Given the description of an element on the screen output the (x, y) to click on. 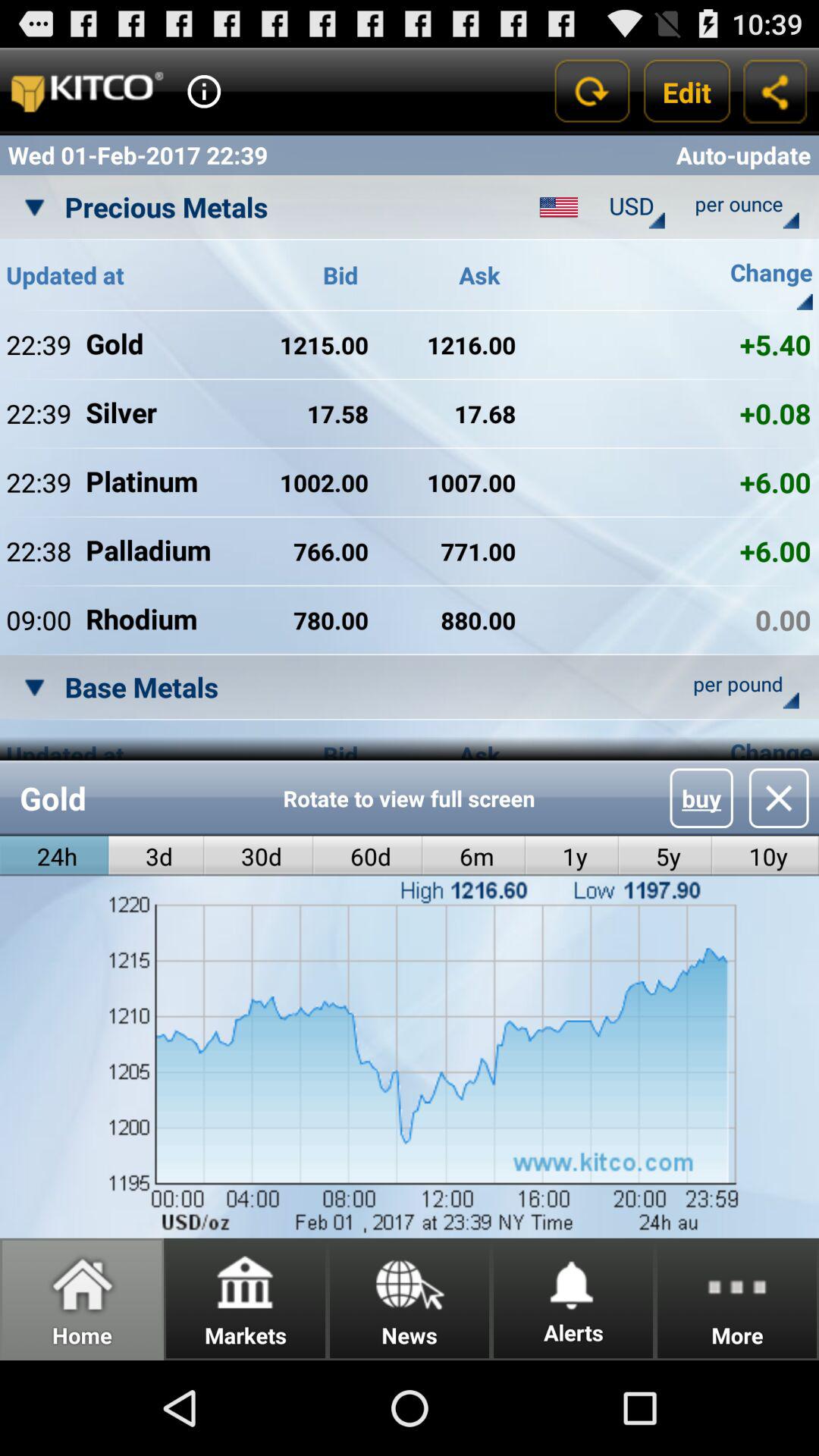
scroll until 6m item (473, 856)
